Given the description of an element on the screen output the (x, y) to click on. 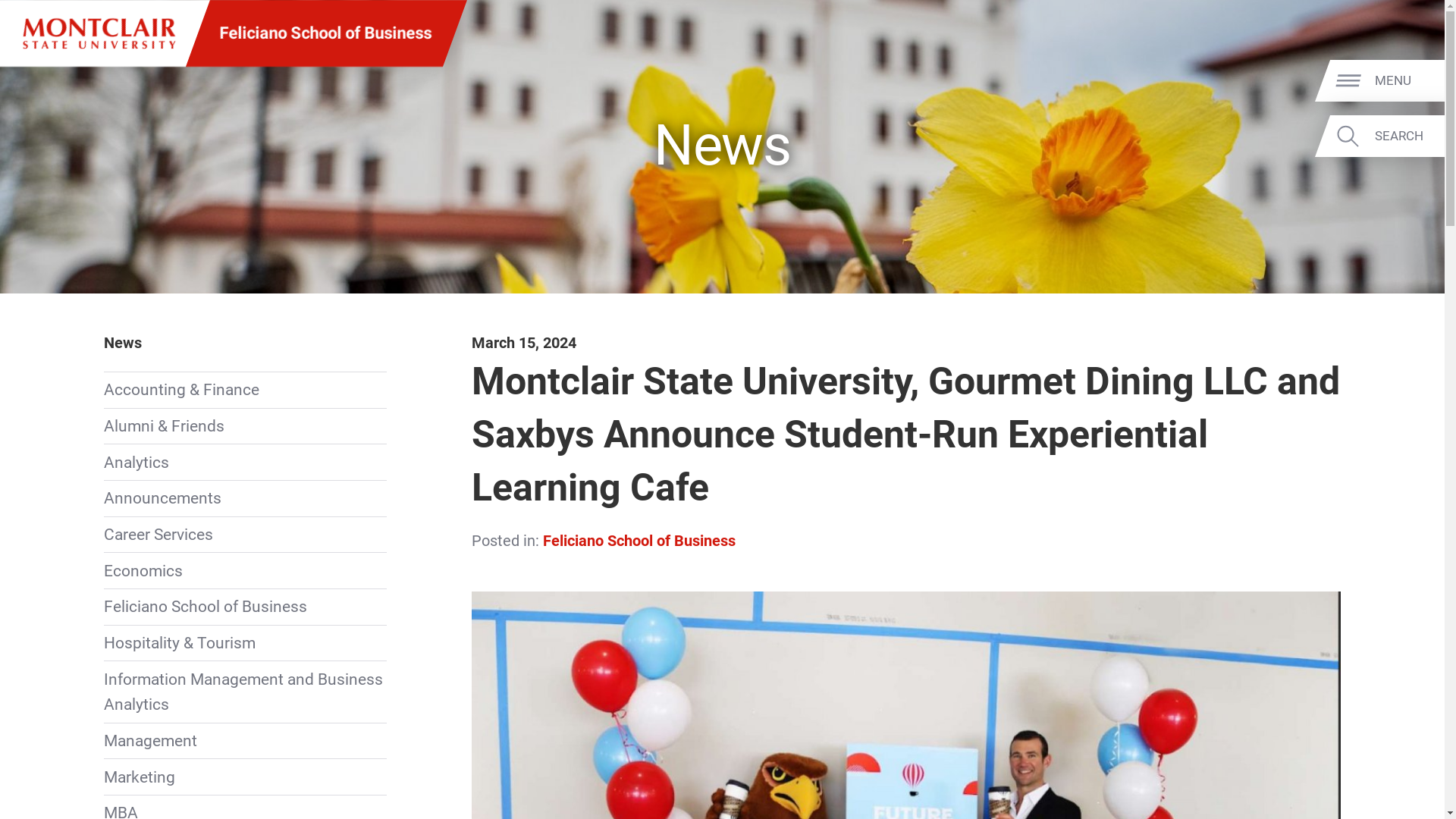
Feliciano School of Business (325, 33)
SEARCH (1406, 135)
MENU (1406, 81)
